Given the description of an element on the screen output the (x, y) to click on. 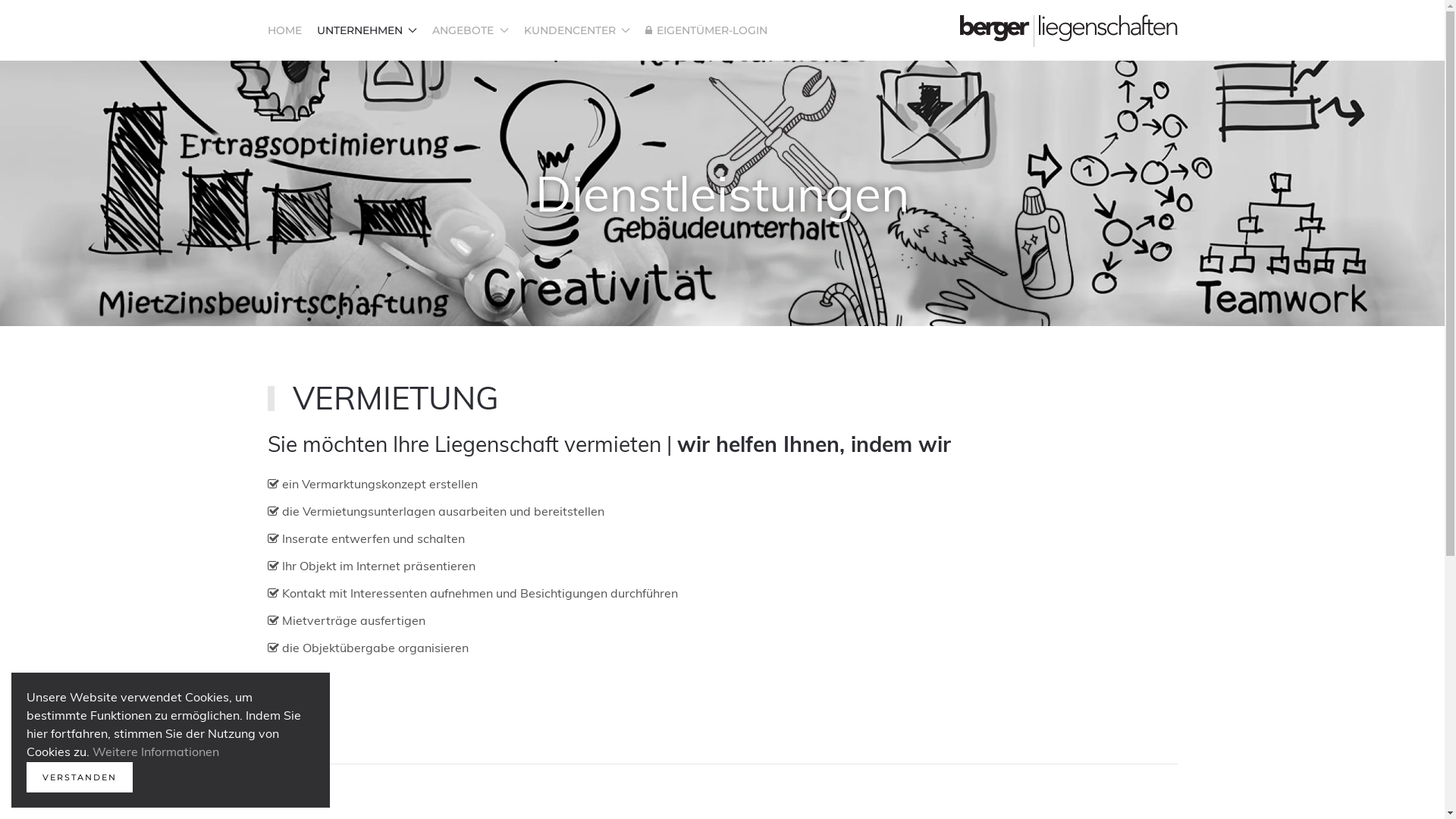
VERSTANDEN Element type: text (79, 777)
KUNDENCENTER Element type: text (576, 30)
HOME Element type: text (283, 30)
UNTERNEHMEN Element type: text (366, 30)
ANGEBOTE Element type: text (470, 30)
Weitere Informationen Element type: text (155, 751)
